Given the description of an element on the screen output the (x, y) to click on. 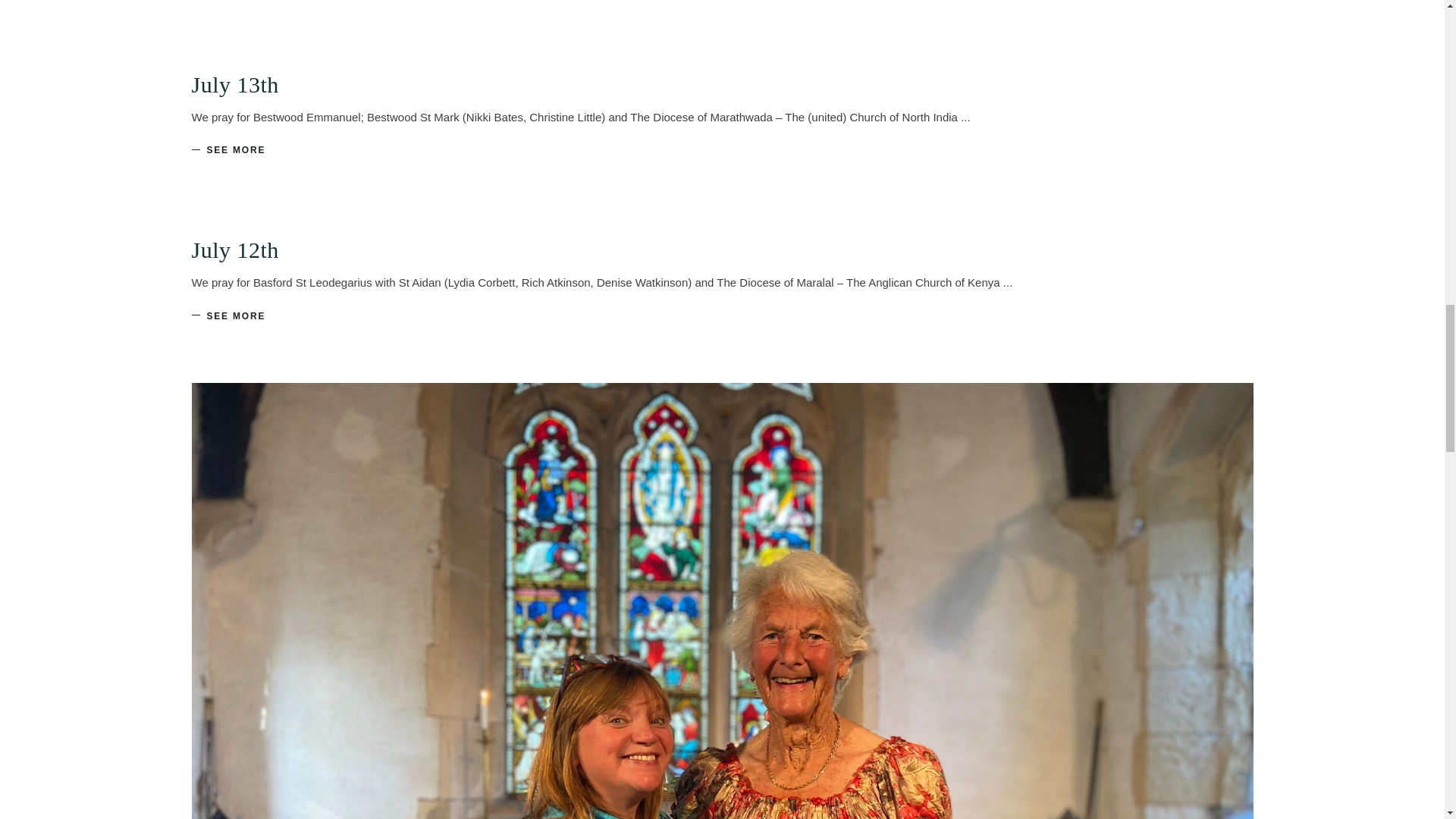
July 13th (234, 84)
July 12th (234, 249)
